Given the description of an element on the screen output the (x, y) to click on. 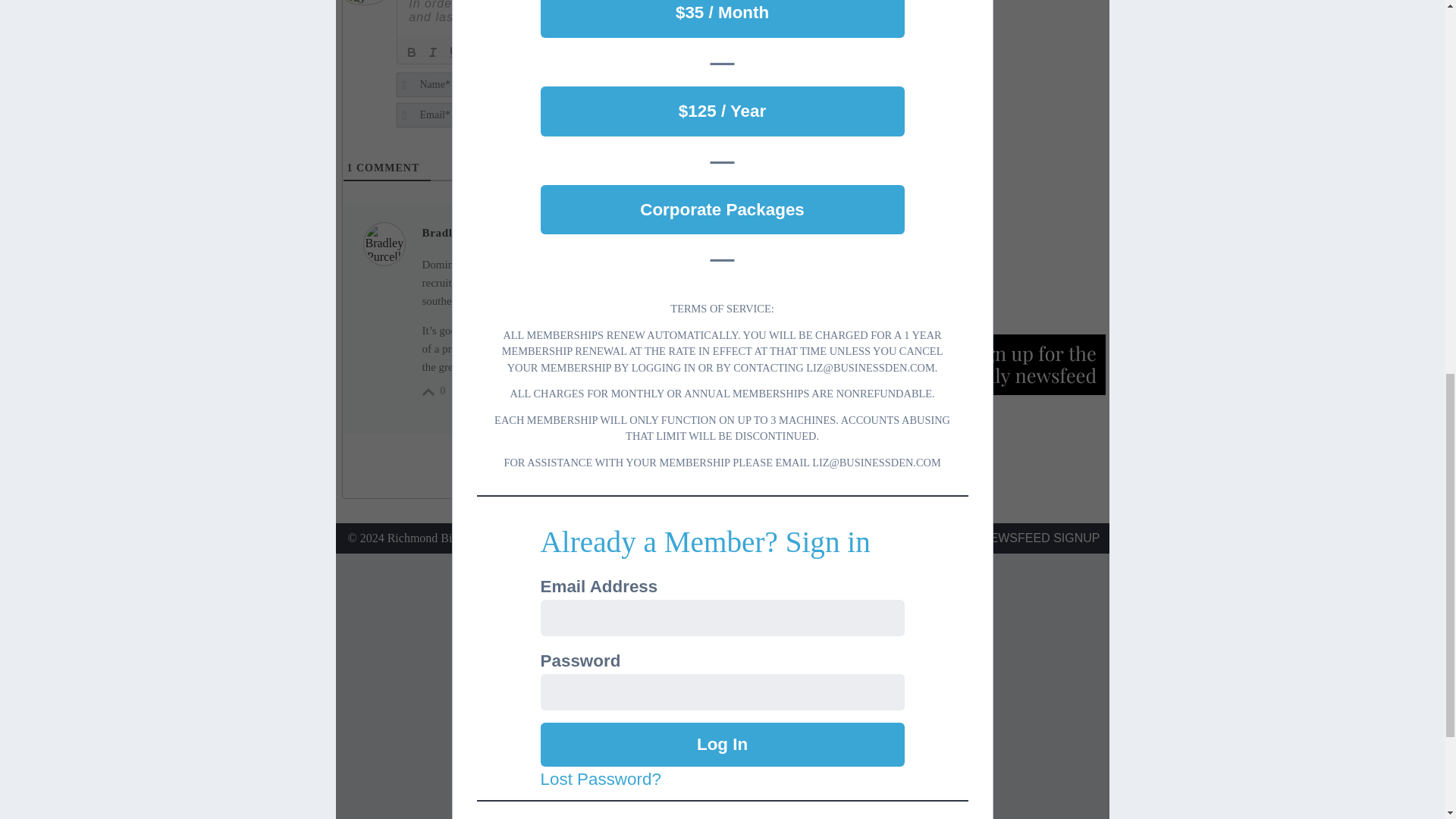
Link (581, 52)
Blockquote (539, 52)
Bold (411, 52)
Source Code (601, 52)
Post Comment (811, 95)
Ordered List (496, 52)
Log In (722, 744)
Unordered List (517, 52)
Strike (475, 52)
Underline (454, 52)
Code Block (560, 52)
Italic (433, 52)
